Given the description of an element on the screen output the (x, y) to click on. 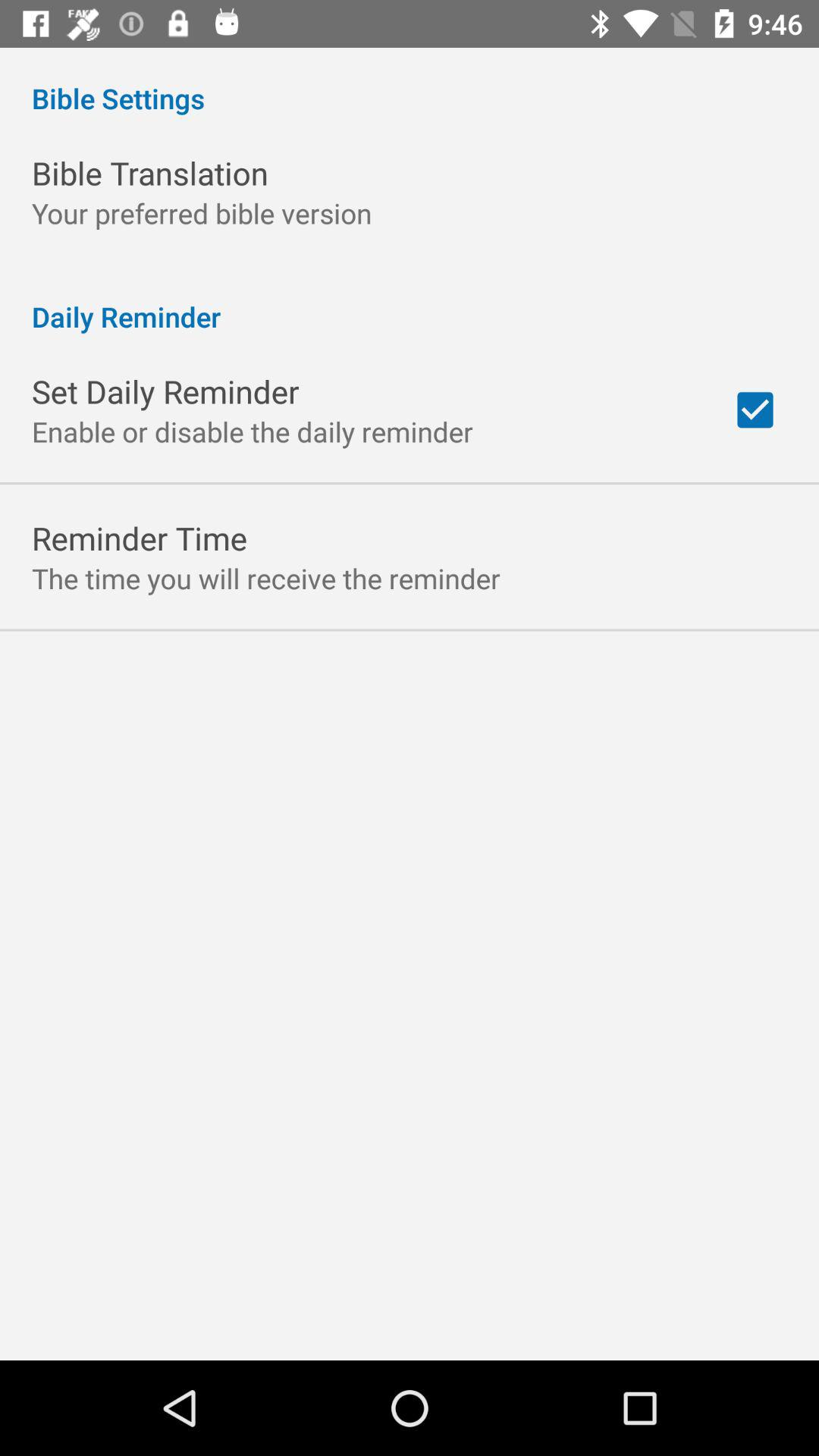
choose the app to the right of enable or disable app (755, 409)
